Given the description of an element on the screen output the (x, y) to click on. 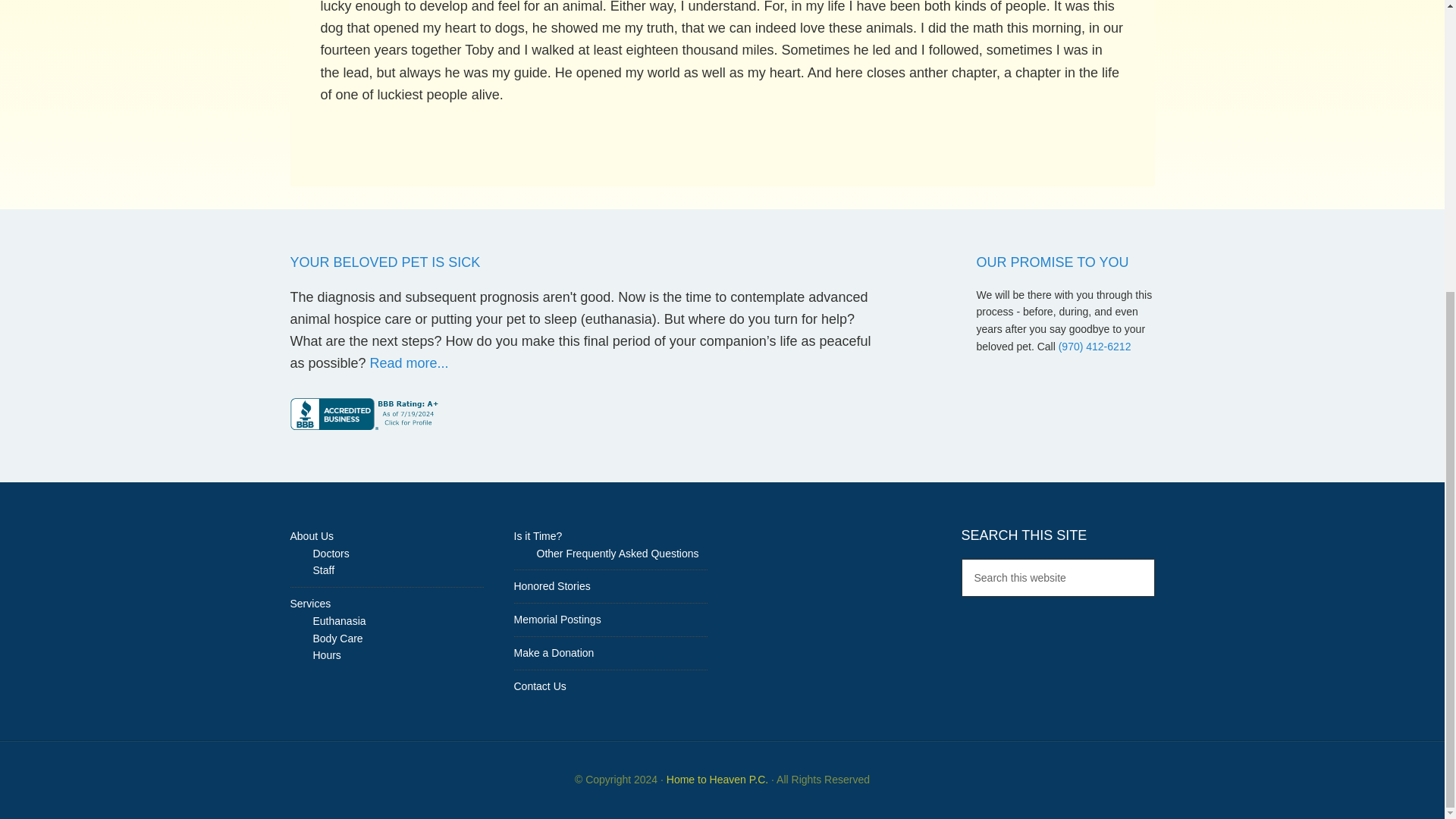
About Us (311, 535)
Services (309, 603)
Doctors (331, 553)
Read more... (408, 363)
Staff (323, 570)
